Given the description of an element on the screen output the (x, y) to click on. 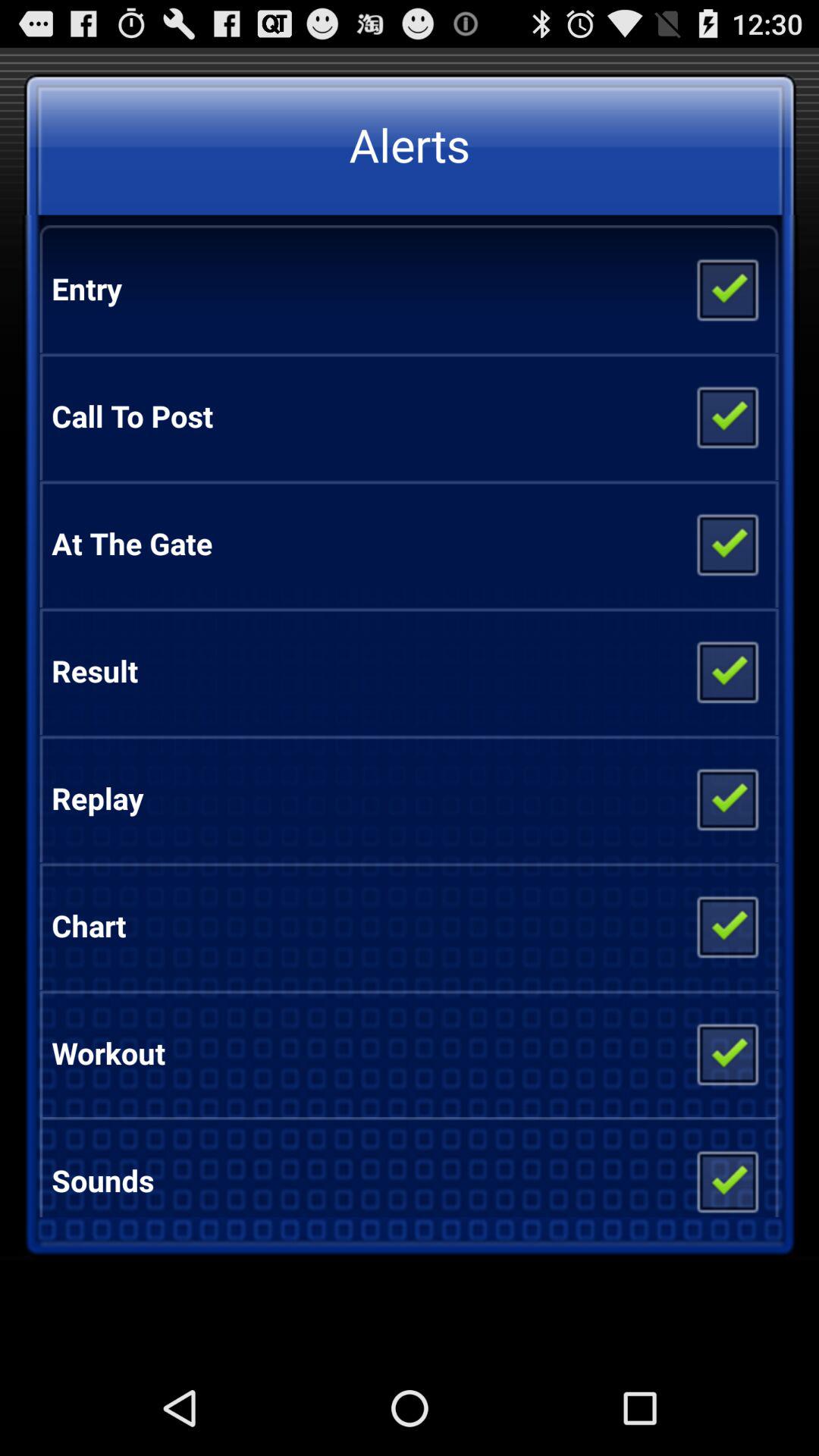
toggle result alerts (726, 670)
